Given the description of an element on the screen output the (x, y) to click on. 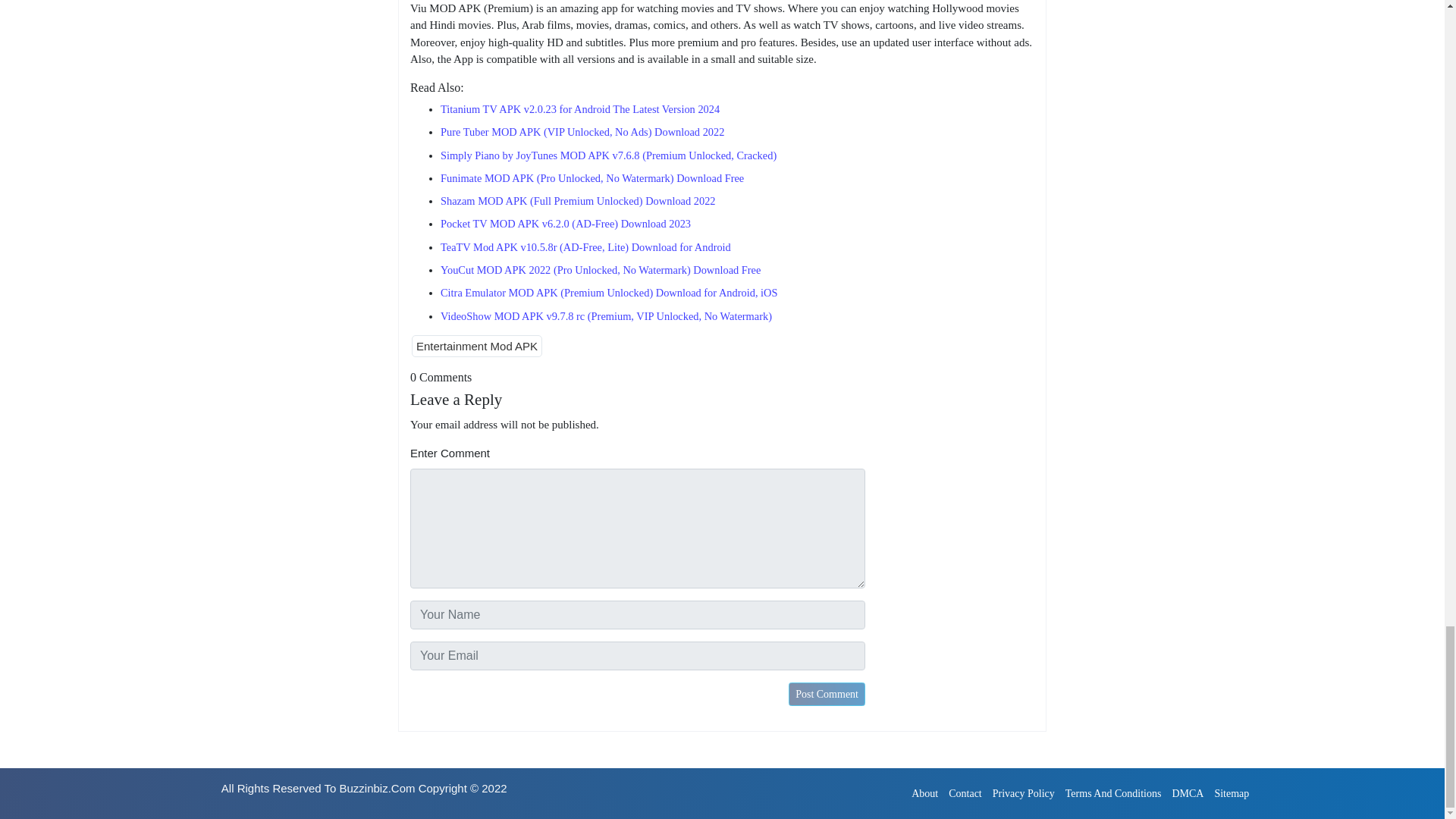
Post Comment (826, 693)
